Given the description of an element on the screen output the (x, y) to click on. 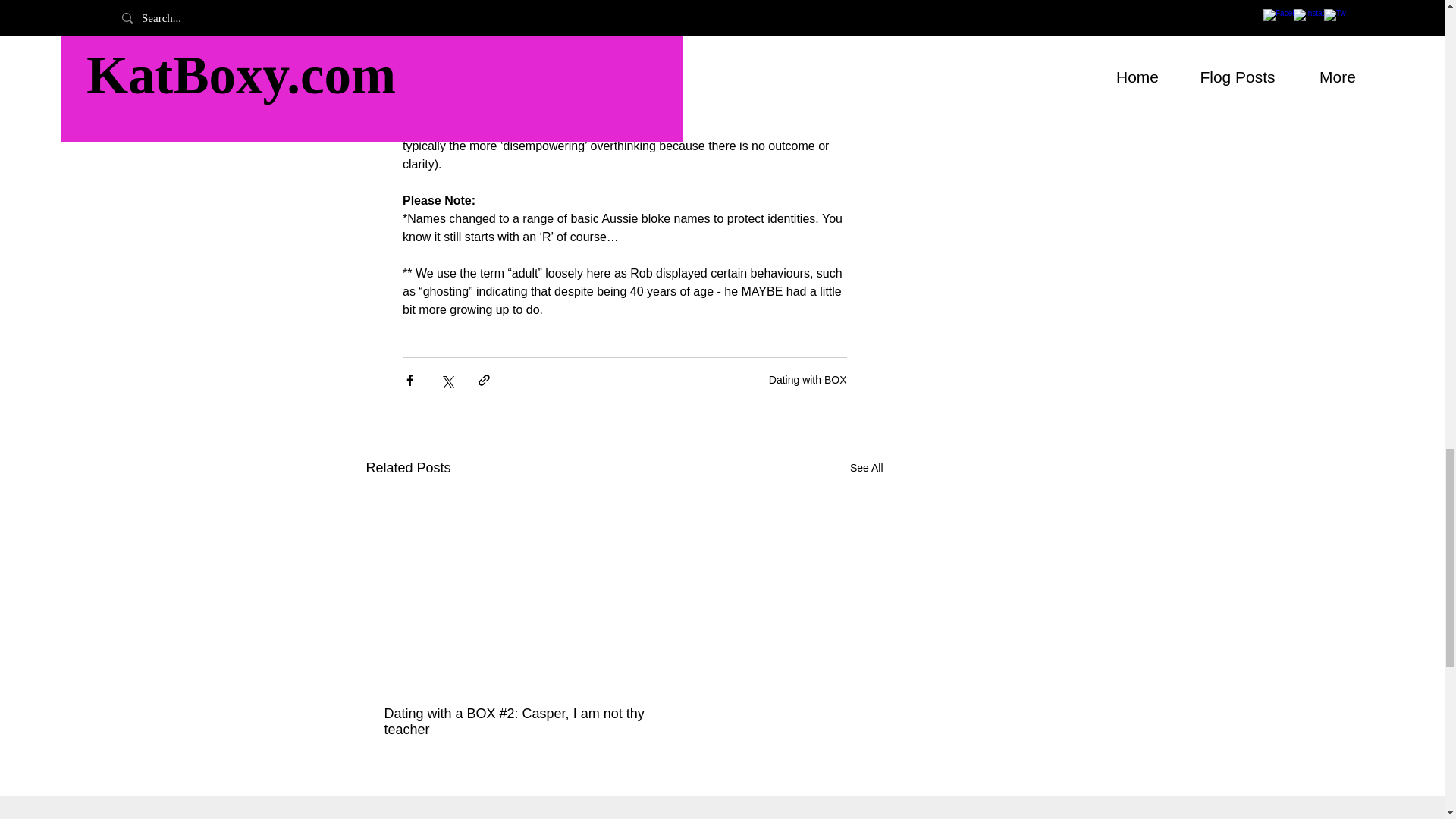
See All (866, 467)
Dating with BOX (807, 379)
